Given the description of an element on the screen output the (x, y) to click on. 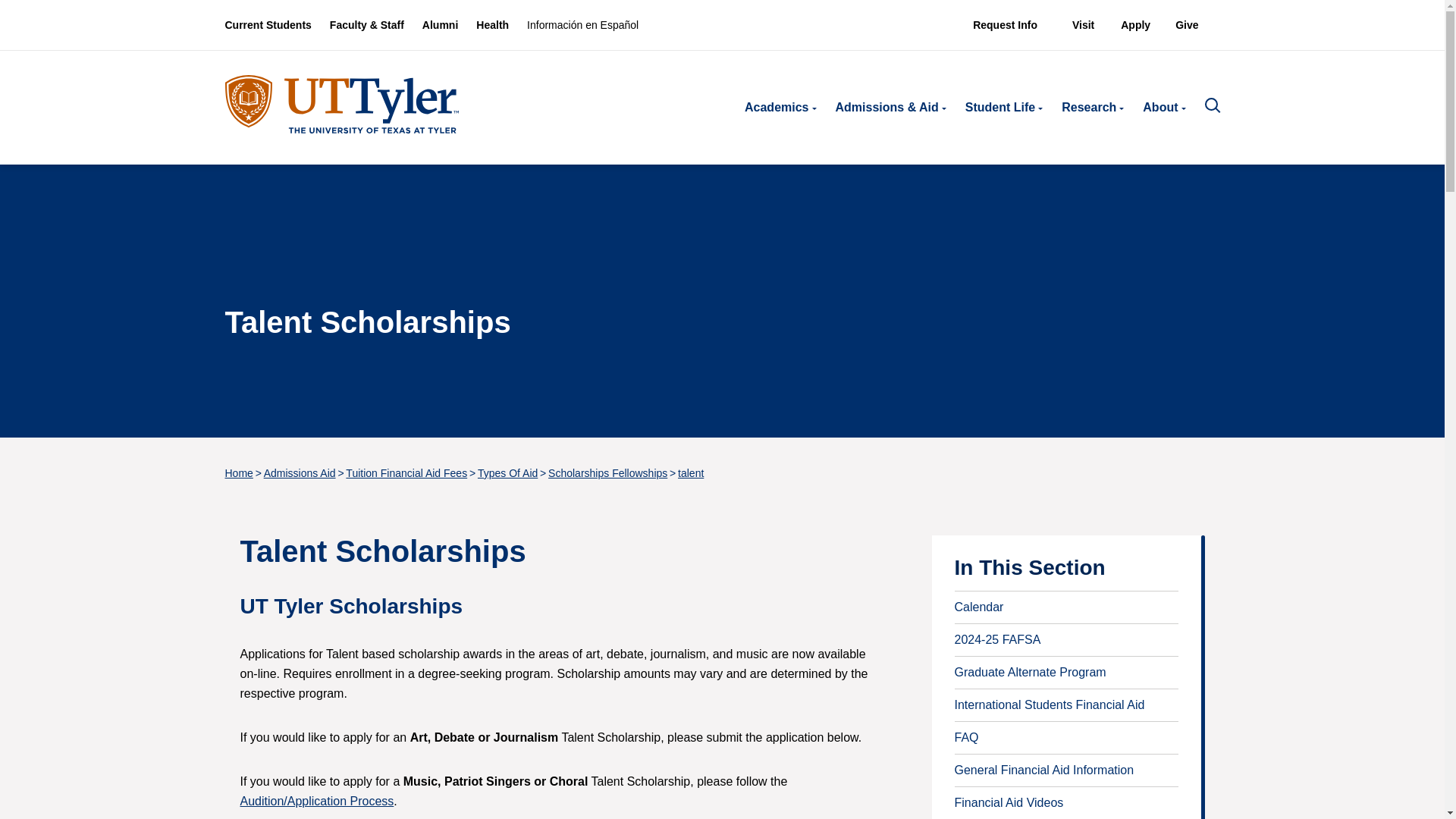
UT Tyler (341, 103)
Student Life (1000, 107)
Academics (776, 107)
